Given the description of an element on the screen output the (x, y) to click on. 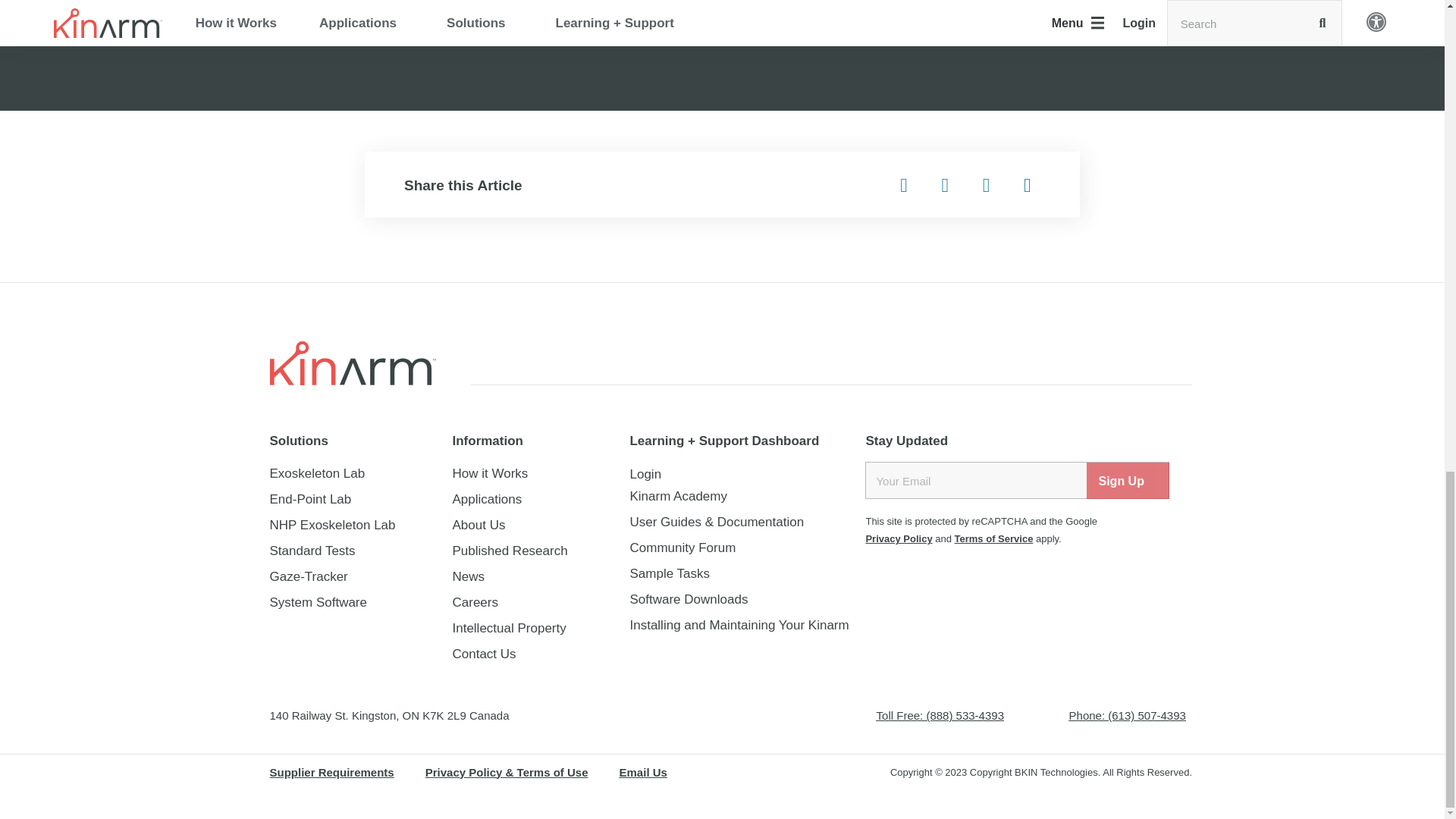
Sign Up (1128, 480)
